Given the description of an element on the screen output the (x, y) to click on. 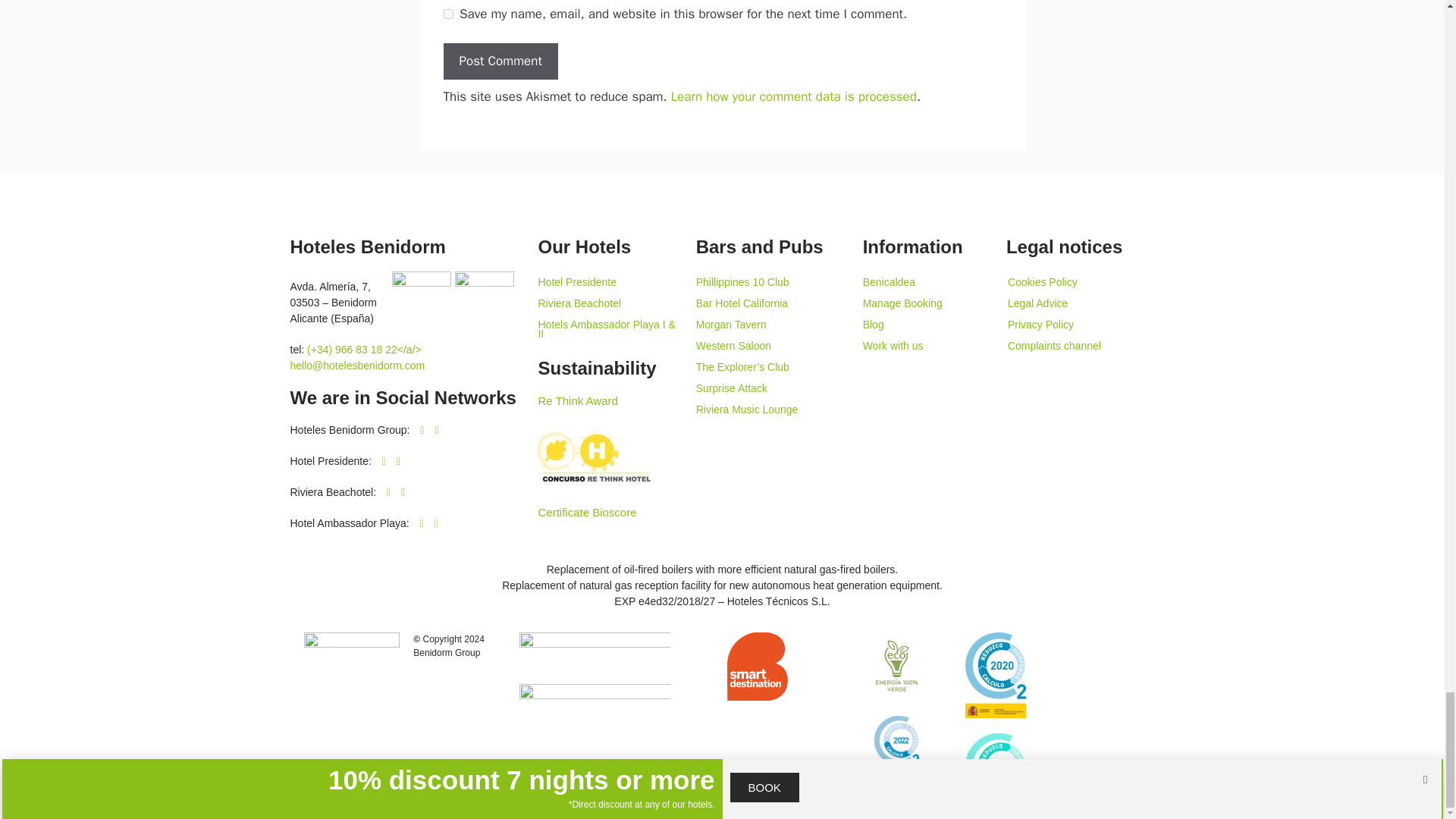
yes (447, 13)
Re Think Hotel logo (593, 456)
Post Comment (499, 61)
